Given the description of an element on the screen output the (x, y) to click on. 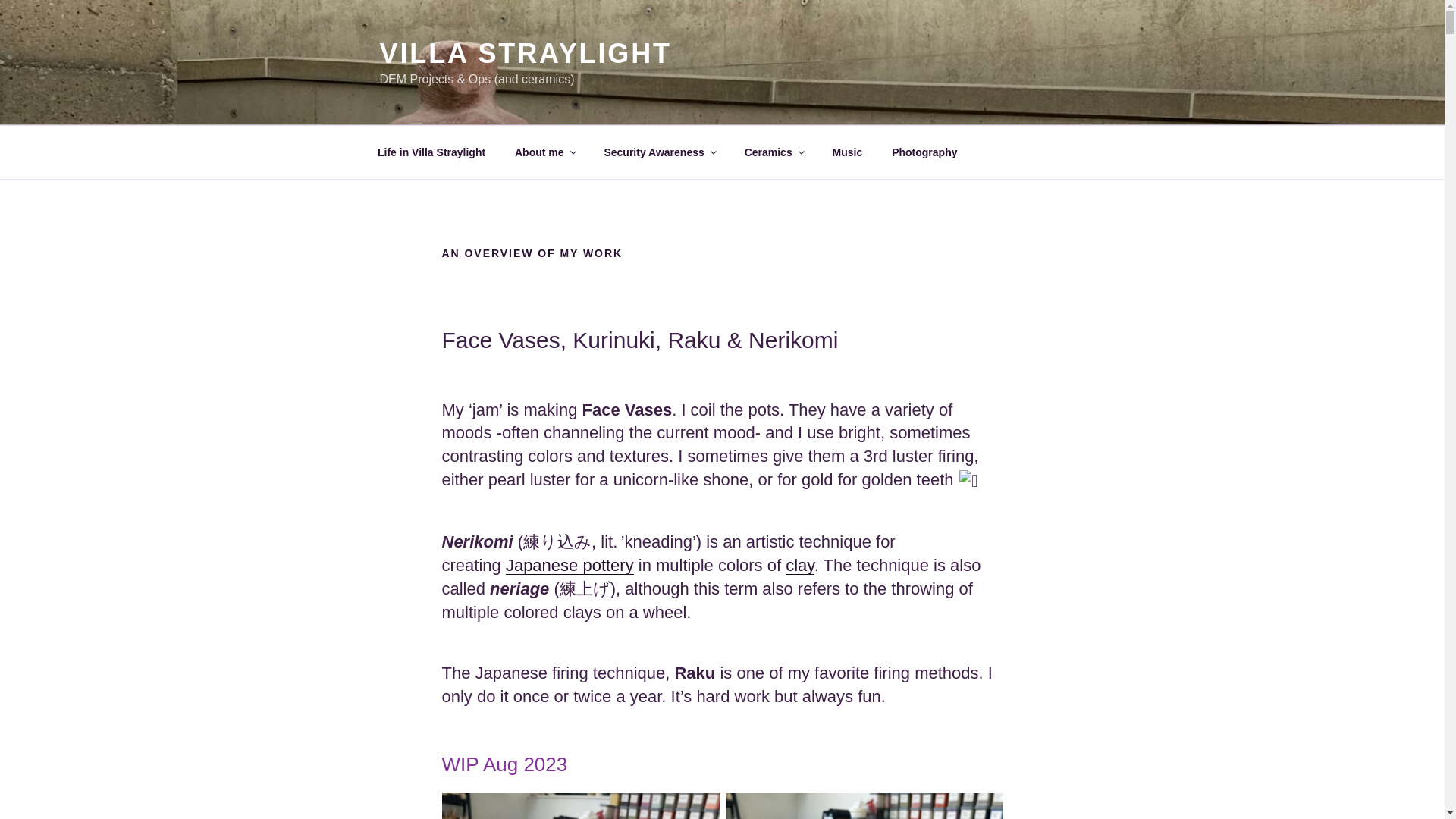
Japanese pottery (569, 565)
Music (847, 151)
About me (545, 151)
Ceramics (772, 151)
VILLA STRAYLIGHT (524, 52)
clay (799, 565)
Photography (925, 151)
Security Awareness (659, 151)
Life in Villa Straylight (430, 151)
